Given the description of an element on the screen output the (x, y) to click on. 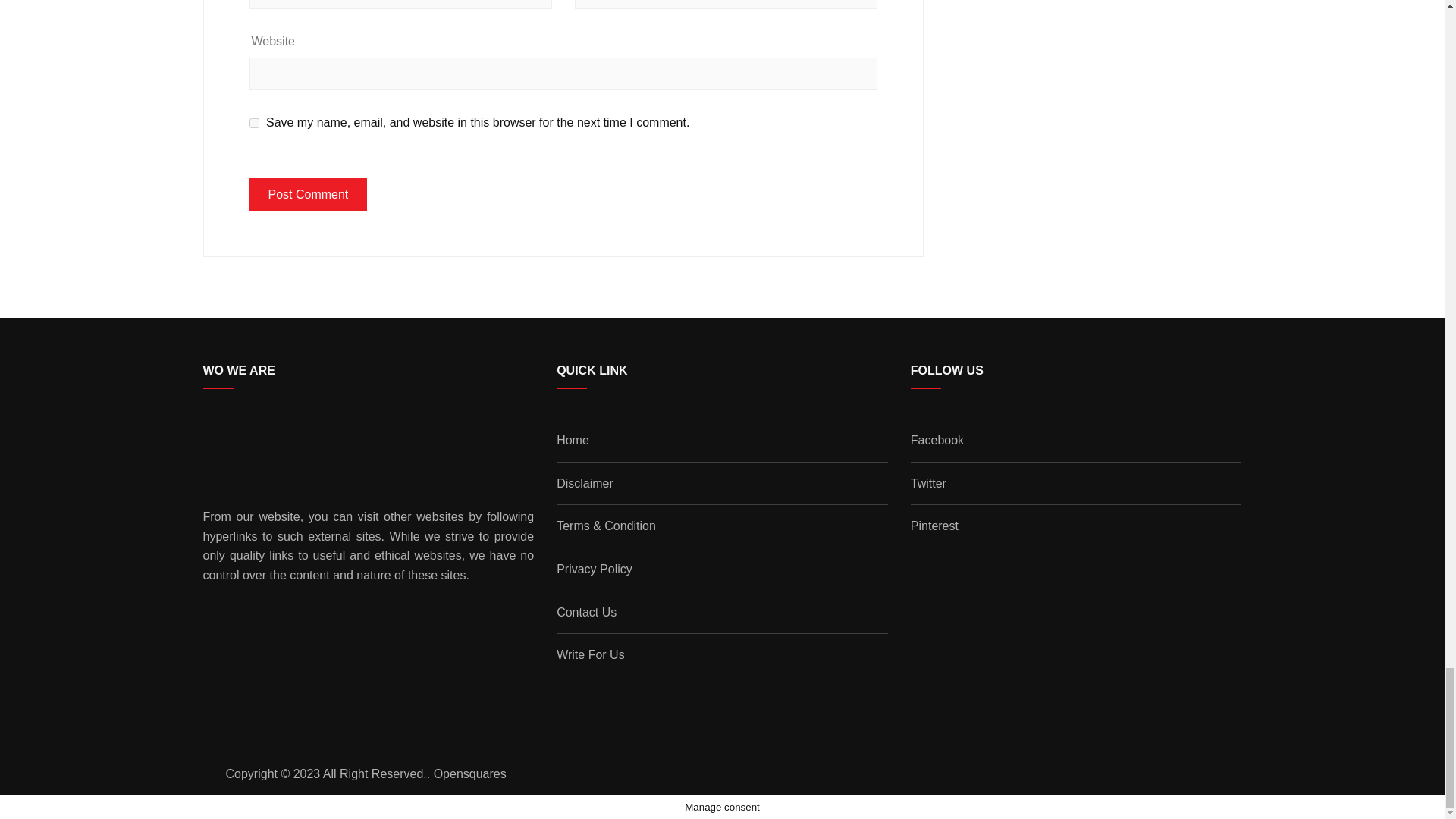
yes (253, 122)
Post Comment (307, 194)
